Given the description of an element on the screen output the (x, y) to click on. 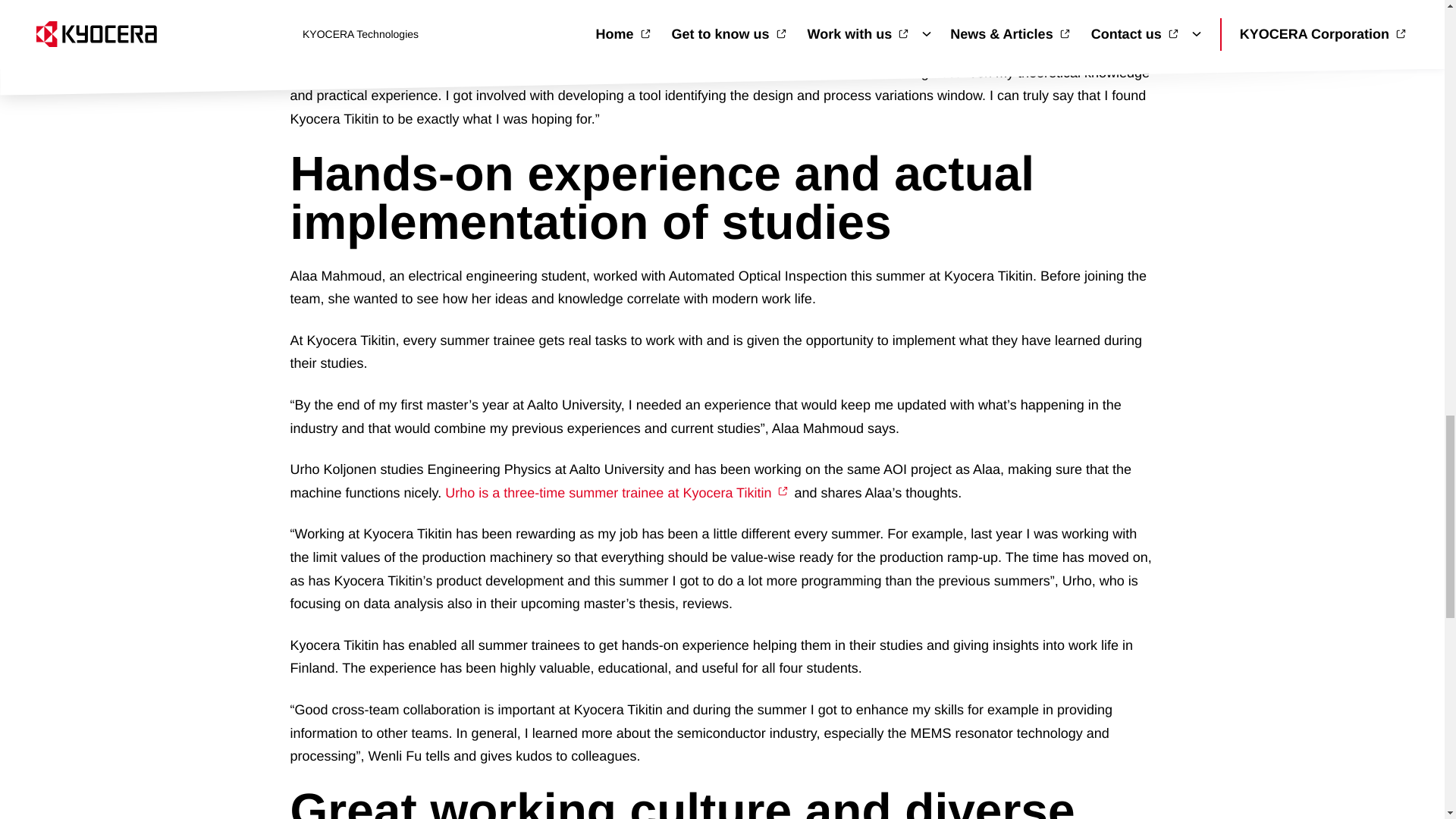
Urho is a three-time summer trainee at Kyocera Tikitin (617, 492)
